Given the description of an element on the screen output the (x, y) to click on. 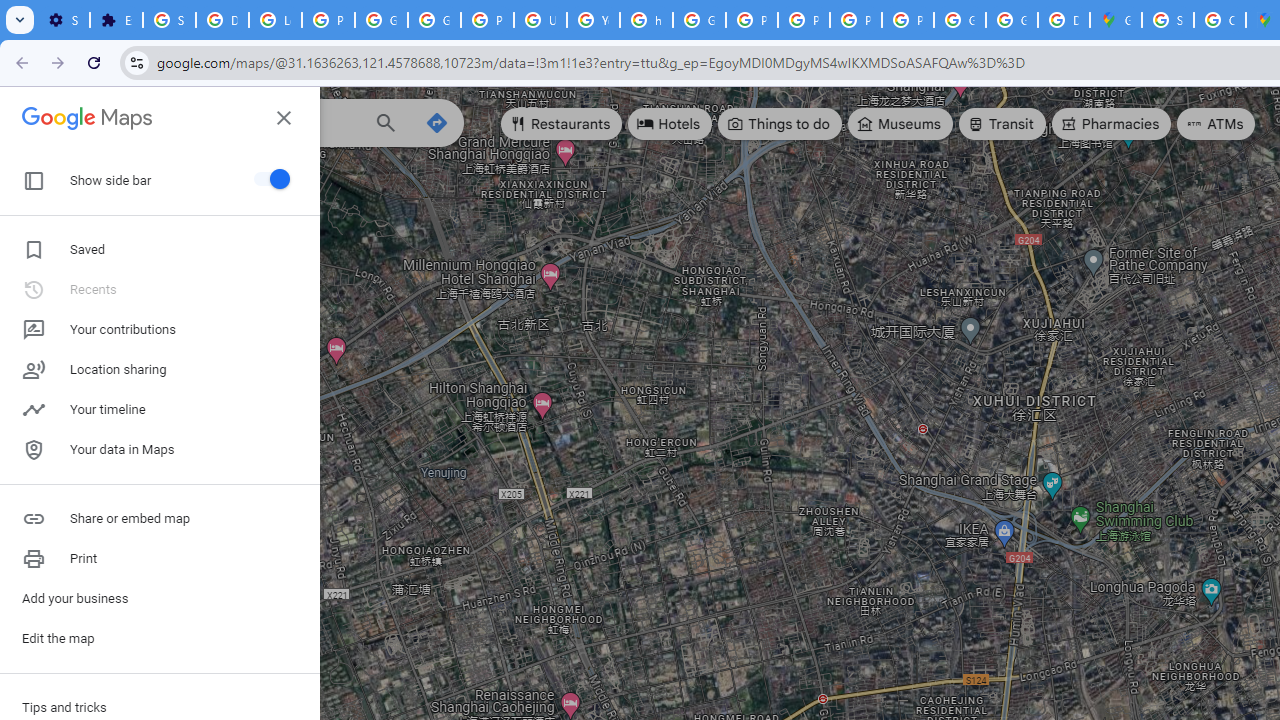
Hotels (670, 124)
Show side bar (269, 178)
Create your Google Account (1219, 20)
Tips and tricks (159, 708)
Share or embed map (159, 518)
Your timeline (159, 409)
Transit (1001, 124)
Saved (159, 250)
Recents (159, 289)
Saved (35, 182)
